Given the description of an element on the screen output the (x, y) to click on. 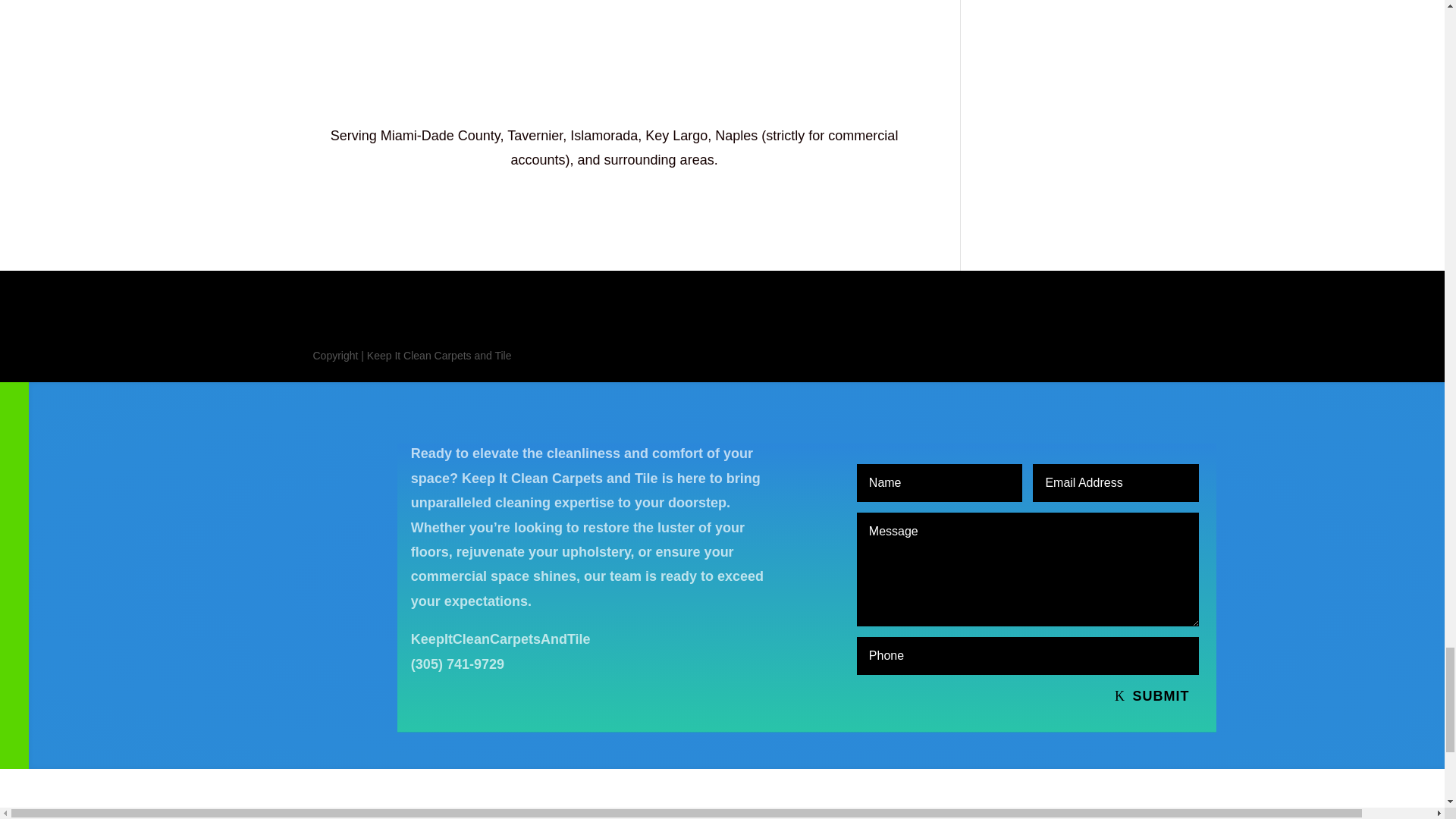
Minimum length: 5 characters. Maximum length: 51 characters. (940, 483)
